Given the description of an element on the screen output the (x, y) to click on. 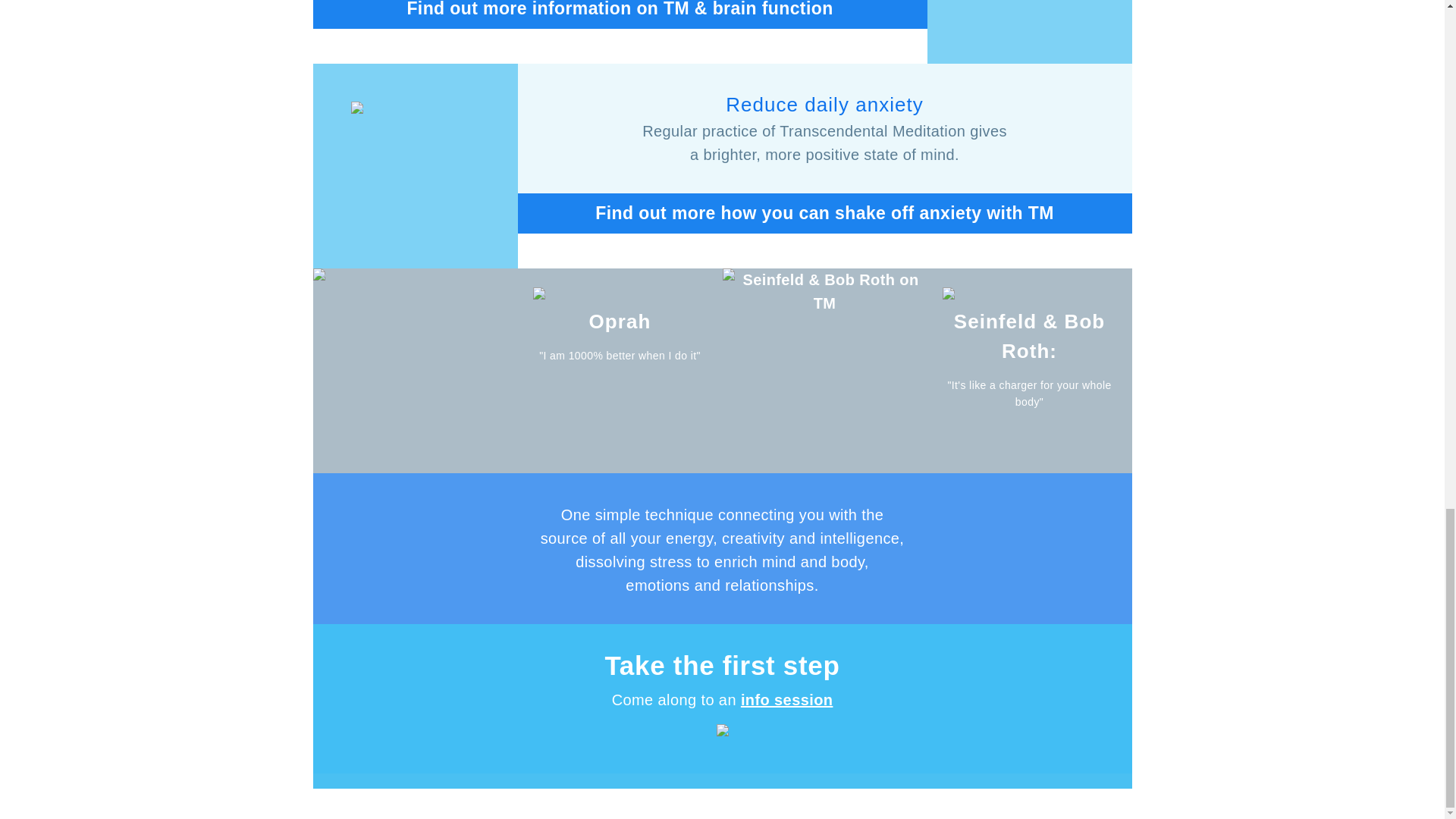
info session (786, 699)
Oprah (619, 321)
Find out more how you can shake off anxiety with TM (823, 213)
